Given the description of an element on the screen output the (x, y) to click on. 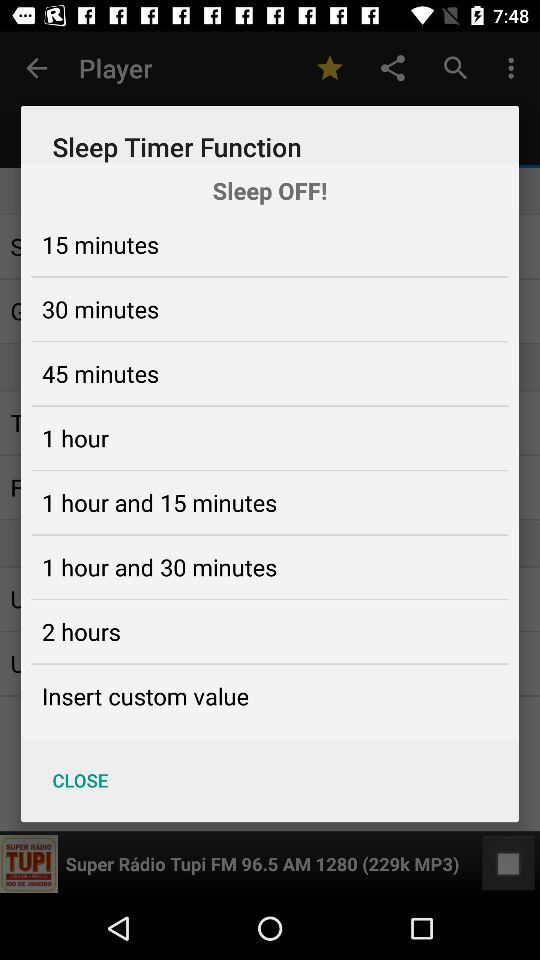
turn off icon below 2 hours icon (145, 696)
